Given the description of an element on the screen output the (x, y) to click on. 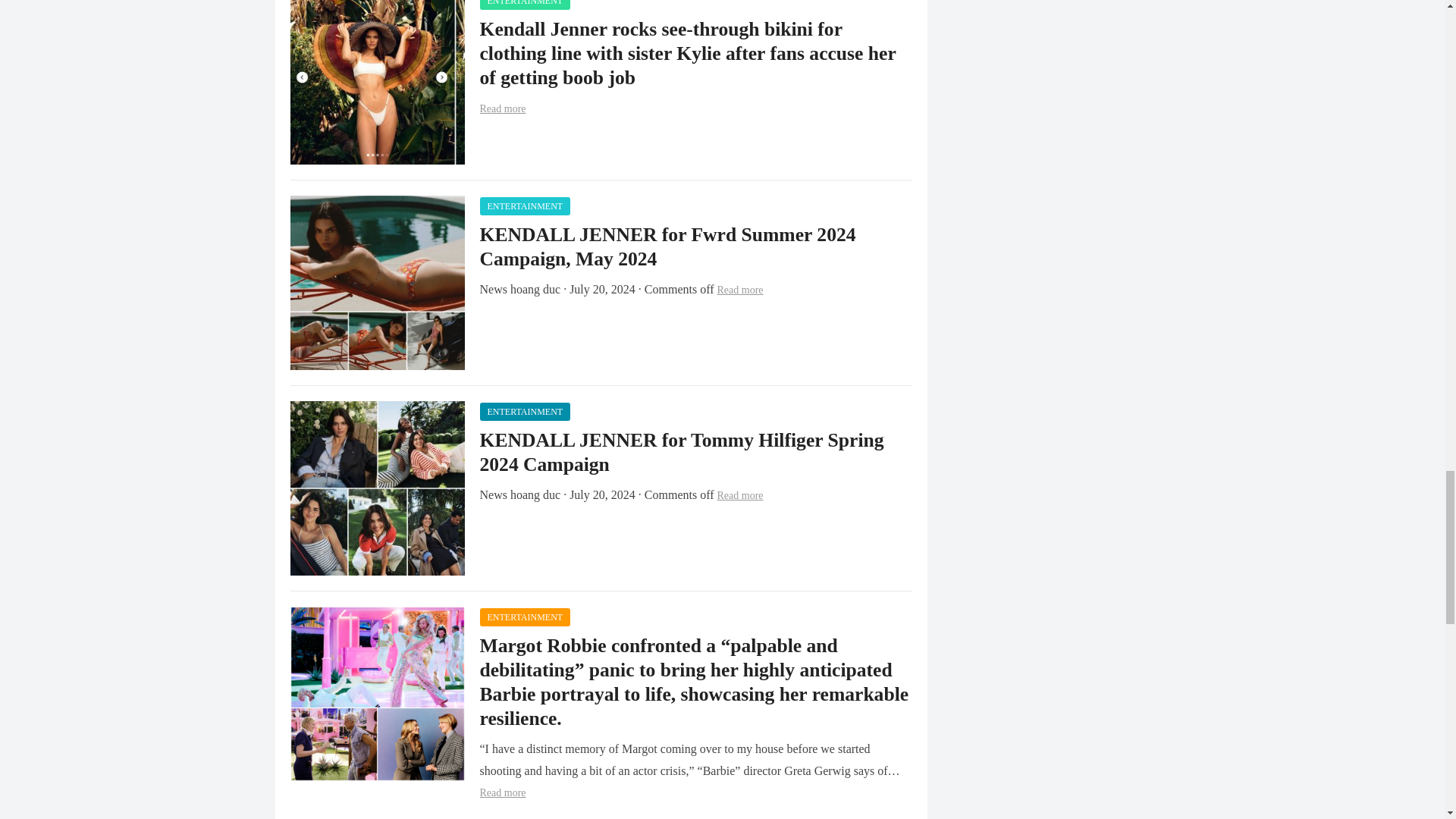
KENDALL JENNER for Fwrd Summer 2024 Campaign, May 2024 (667, 246)
KENDALL JENNER for Tommy Hilfiger Spring 2024 Campaign (681, 452)
ENTERTAINMENT (524, 411)
Read more (502, 108)
ENTERTAINMENT (524, 206)
Read more (739, 289)
Read more (739, 495)
ENTERTAINMENT (524, 4)
